Given the description of an element on the screen output the (x, y) to click on. 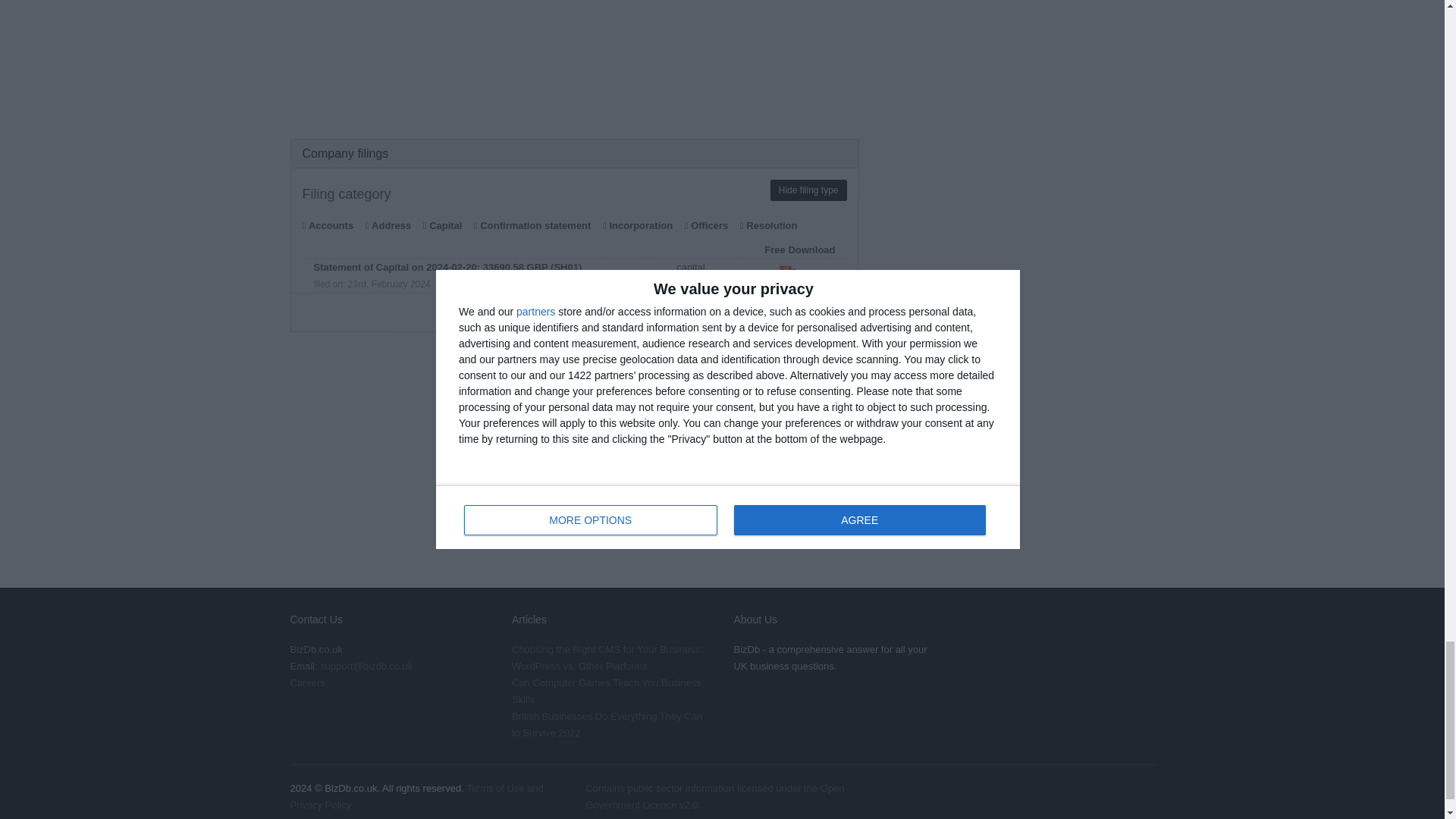
Show more filings (573, 309)
